Given the description of an element on the screen output the (x, y) to click on. 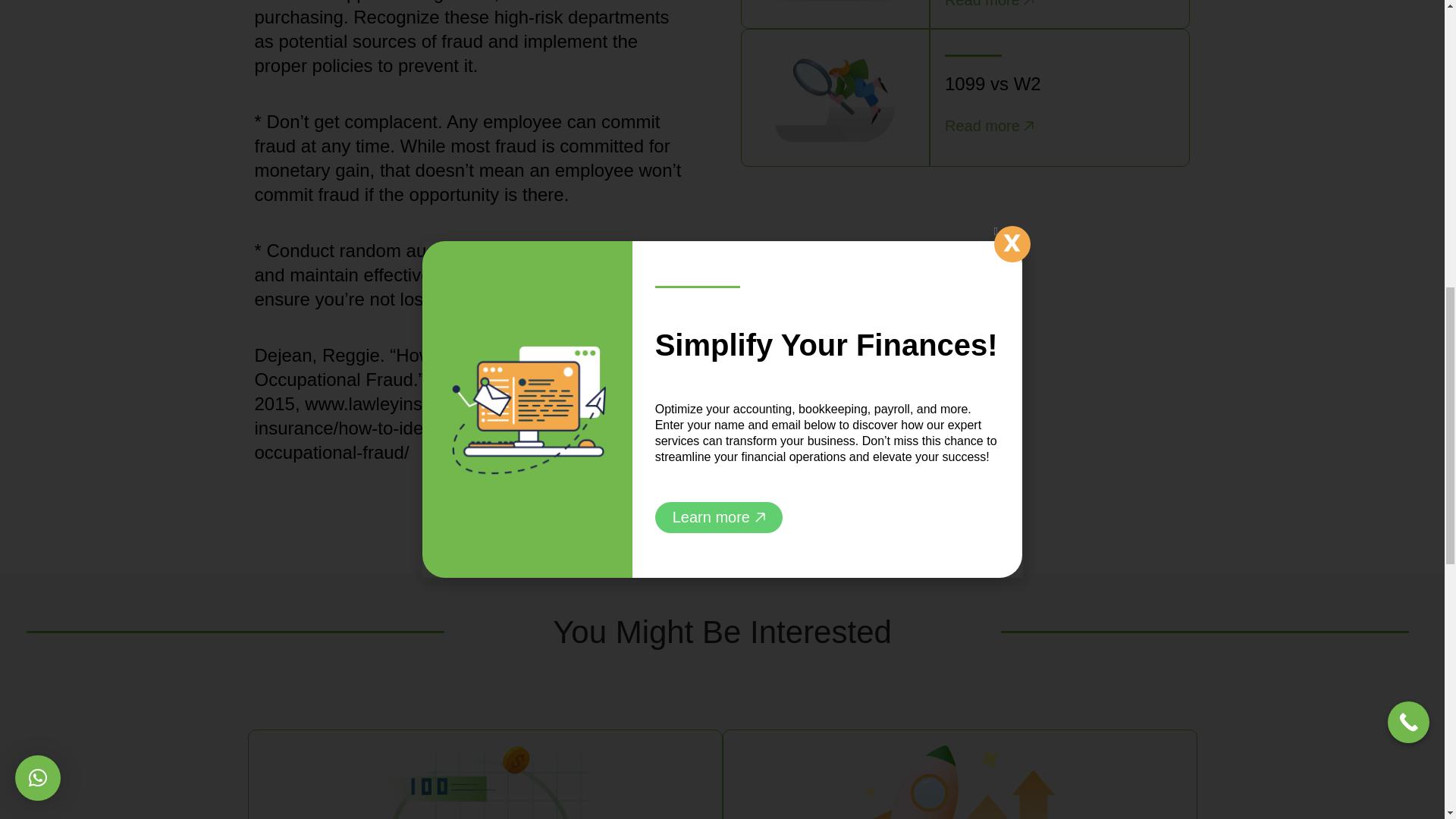
Read more (988, 125)
Read more (988, 7)
